Given the description of an element on the screen output the (x, y) to click on. 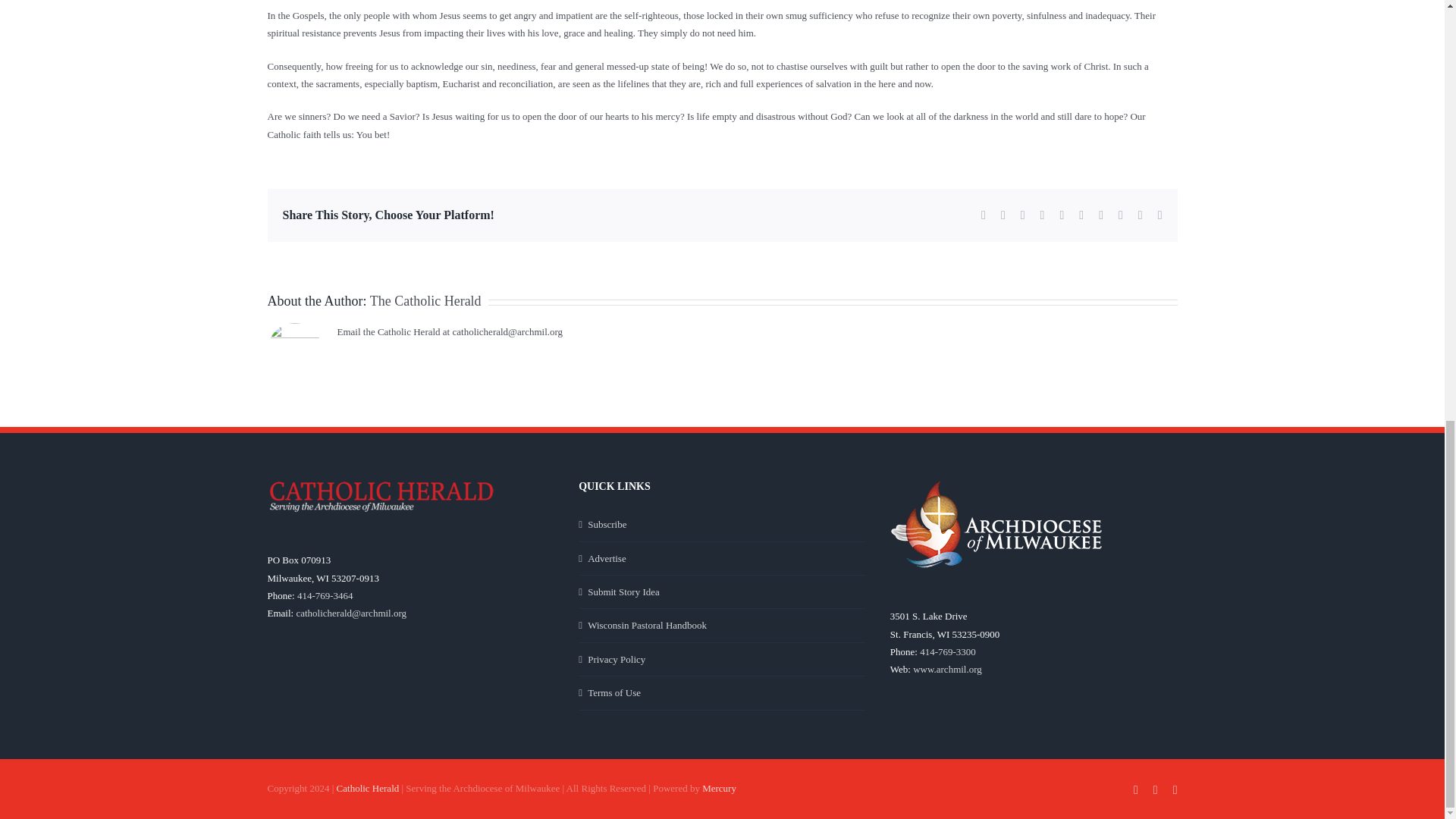
Posts by The Catholic Herald (425, 300)
